Given the description of an element on the screen output the (x, y) to click on. 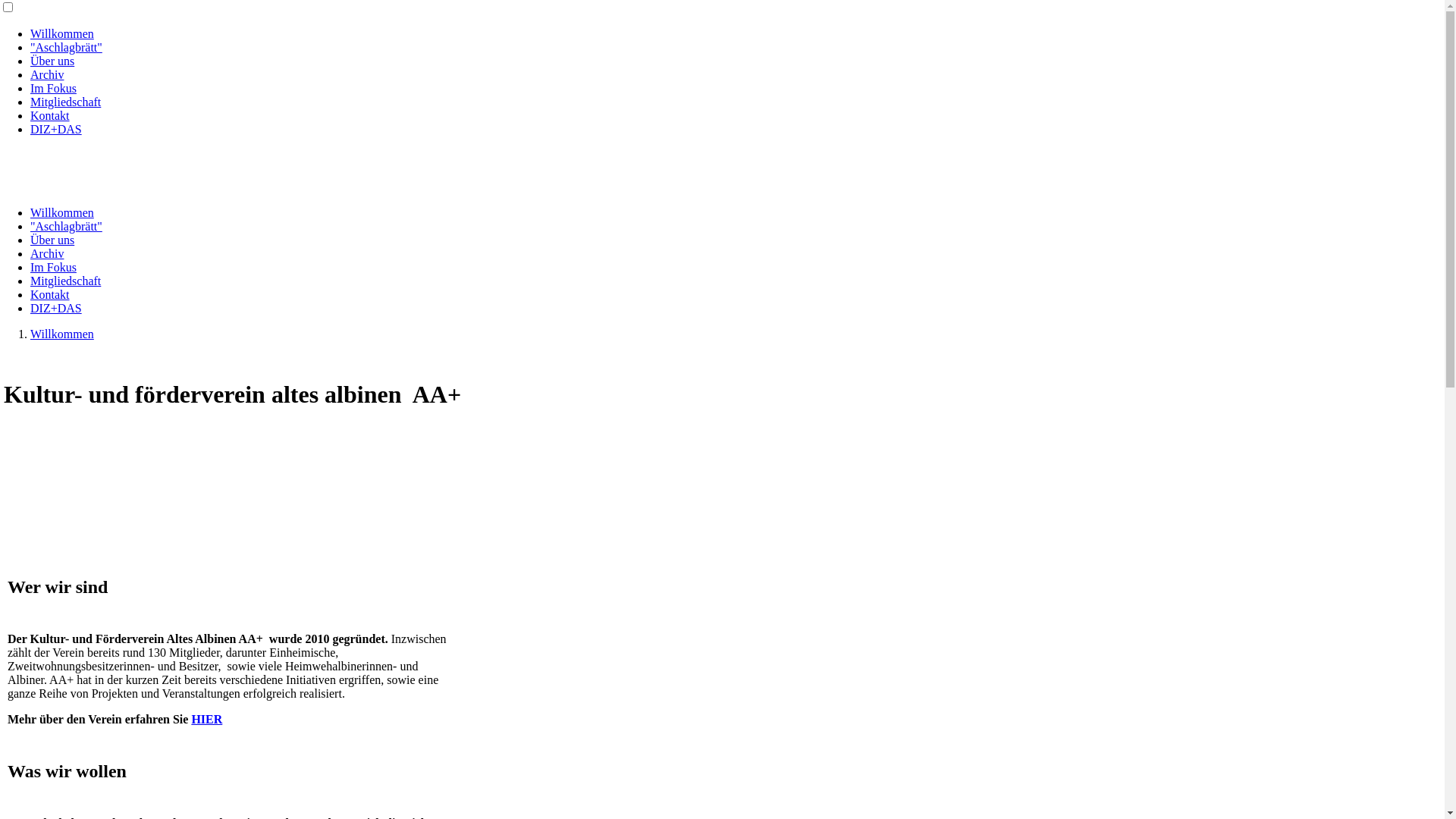
HIER Element type: text (206, 718)
Willkommen Element type: text (62, 33)
Willkommen Element type: text (62, 212)
Mitgliedschaft Element type: text (65, 280)
Kontakt Element type: text (49, 115)
Kontakt Element type: text (49, 294)
DIZ+DAS Element type: text (55, 128)
DIZ+DAS Element type: text (55, 307)
Mitgliedschaft Element type: text (65, 101)
Im Fokus Element type: text (53, 266)
Im Fokus Element type: text (53, 87)
Willkommen Element type: text (62, 333)
Archiv Element type: text (46, 253)
Archiv Element type: text (46, 74)
